Given the description of an element on the screen output the (x, y) to click on. 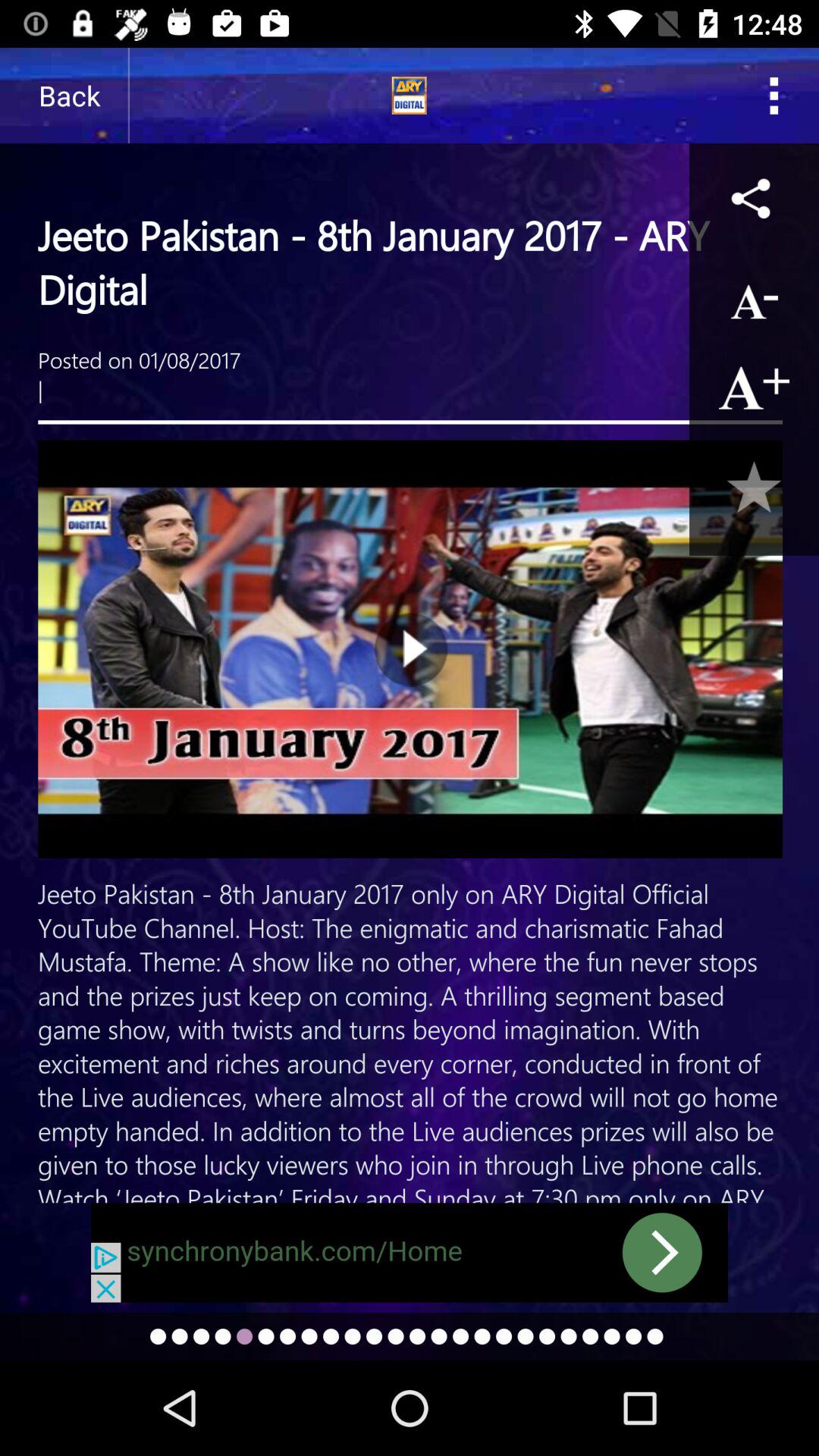
smaller font (754, 297)
